Given the description of an element on the screen output the (x, y) to click on. 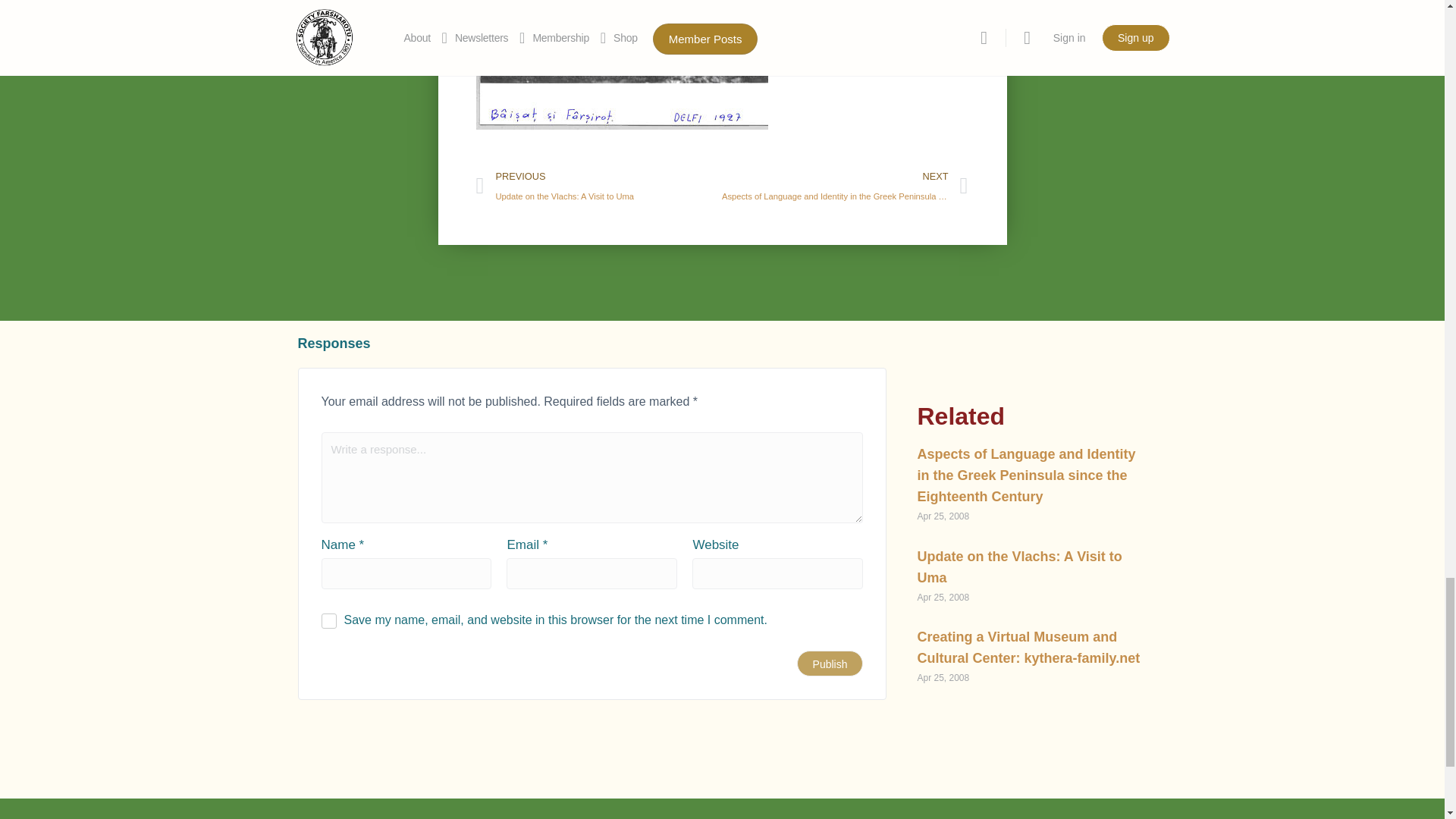
Publish (829, 663)
